Given the description of an element on the screen output the (x, y) to click on. 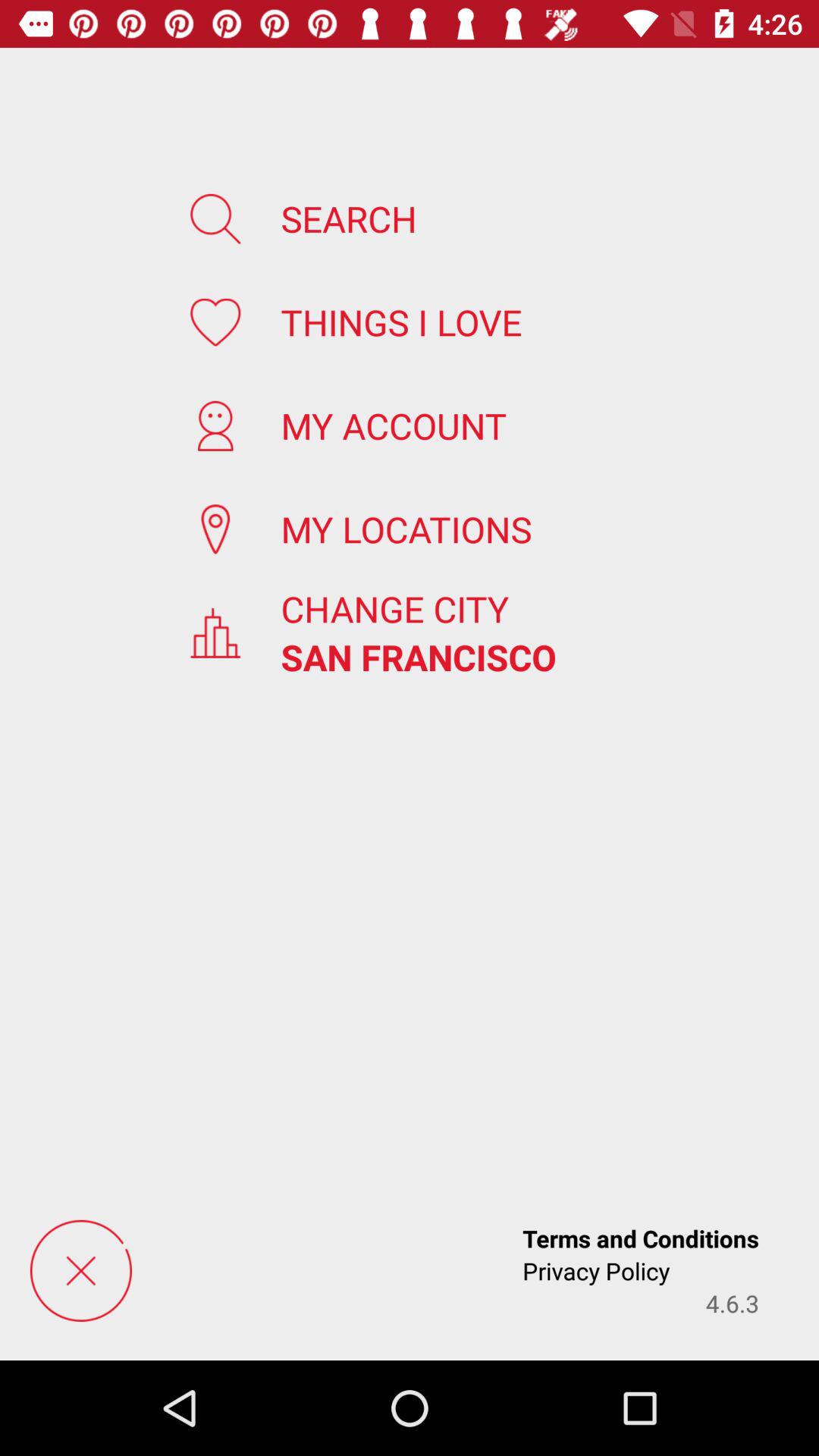
open the item below search app (401, 322)
